Given the description of an element on the screen output the (x, y) to click on. 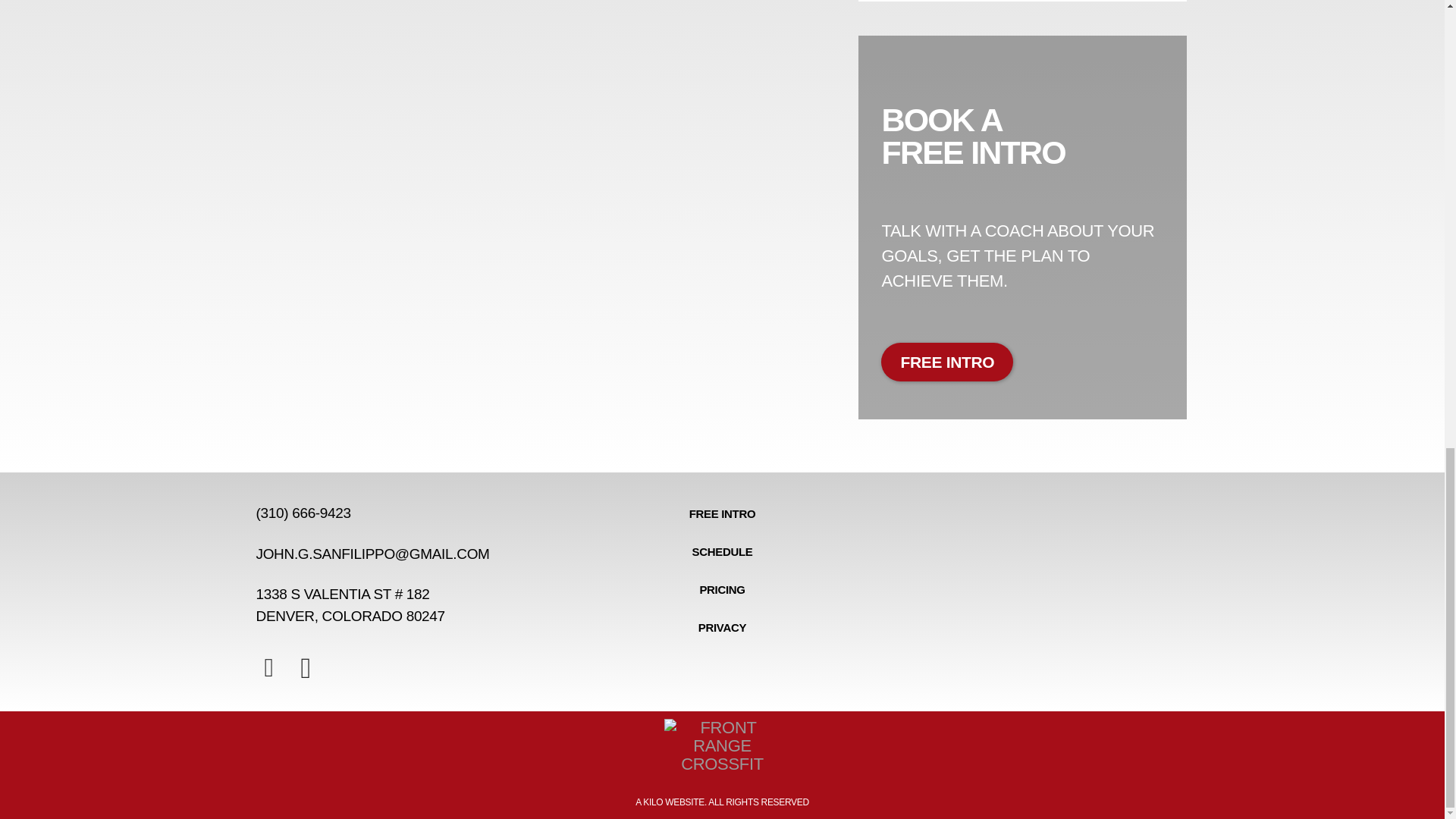
SCHEDULE (722, 551)
PRIVACY (722, 627)
PRICING (722, 589)
FREE INTRO (946, 362)
FREE INTRO (722, 513)
